Given the description of an element on the screen output the (x, y) to click on. 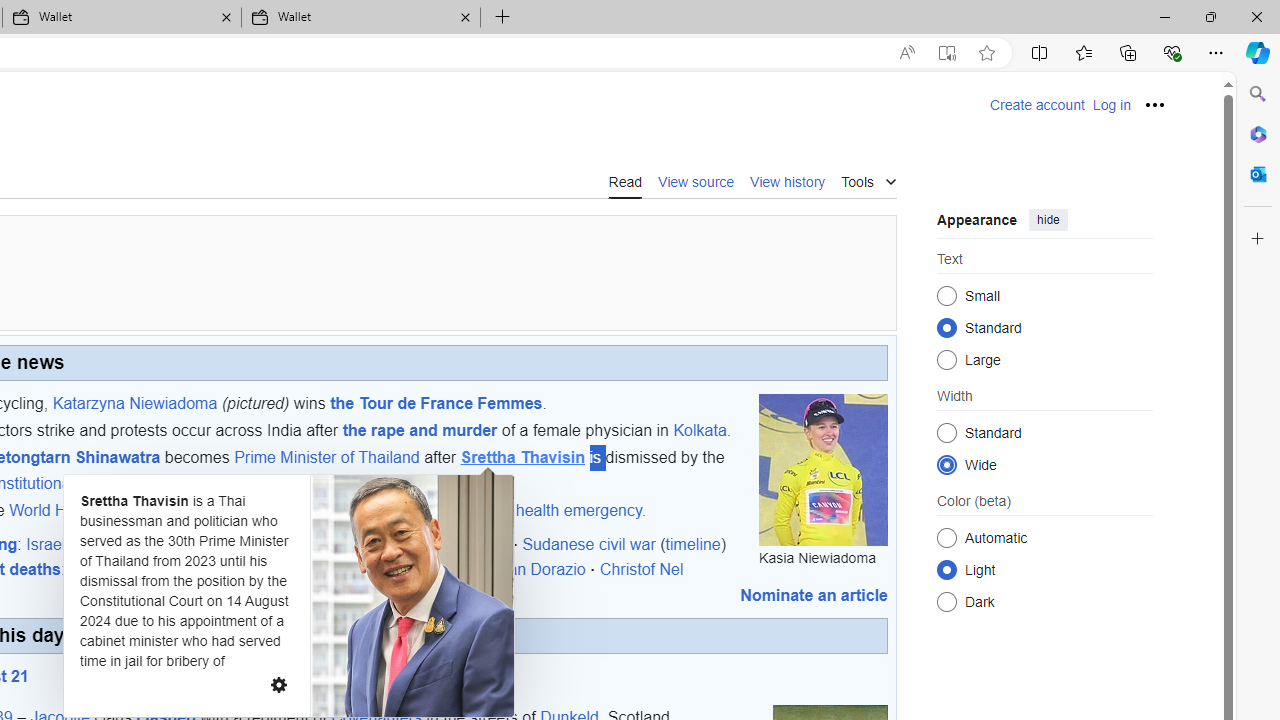
the mpox epidemic (337, 510)
Automatic (946, 537)
Dark (946, 601)
global health emergency (555, 510)
Create account (1037, 105)
Maria Branyas (214, 569)
Change page preview settings (278, 684)
Kolkata (700, 430)
View history (787, 181)
Wallet (360, 17)
